Given the description of an element on the screen output the (x, y) to click on. 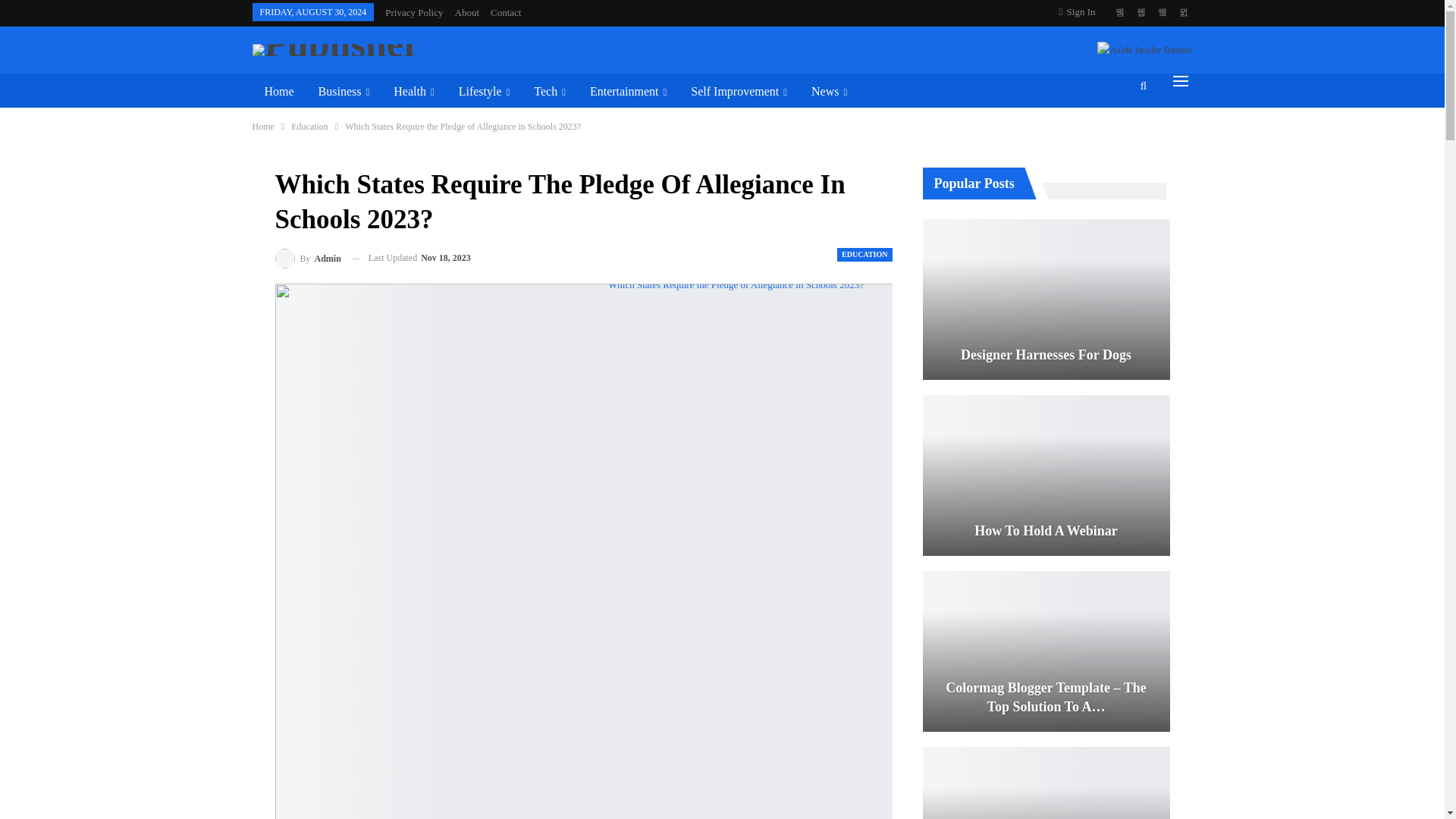
About (467, 12)
Home (278, 91)
Browse Author Articles (307, 258)
Privacy Policy (413, 12)
Sign In (1080, 12)
Tech (549, 91)
Lifestyle (484, 91)
Business (343, 91)
Contact (505, 12)
Health (413, 91)
